Given the description of an element on the screen output the (x, y) to click on. 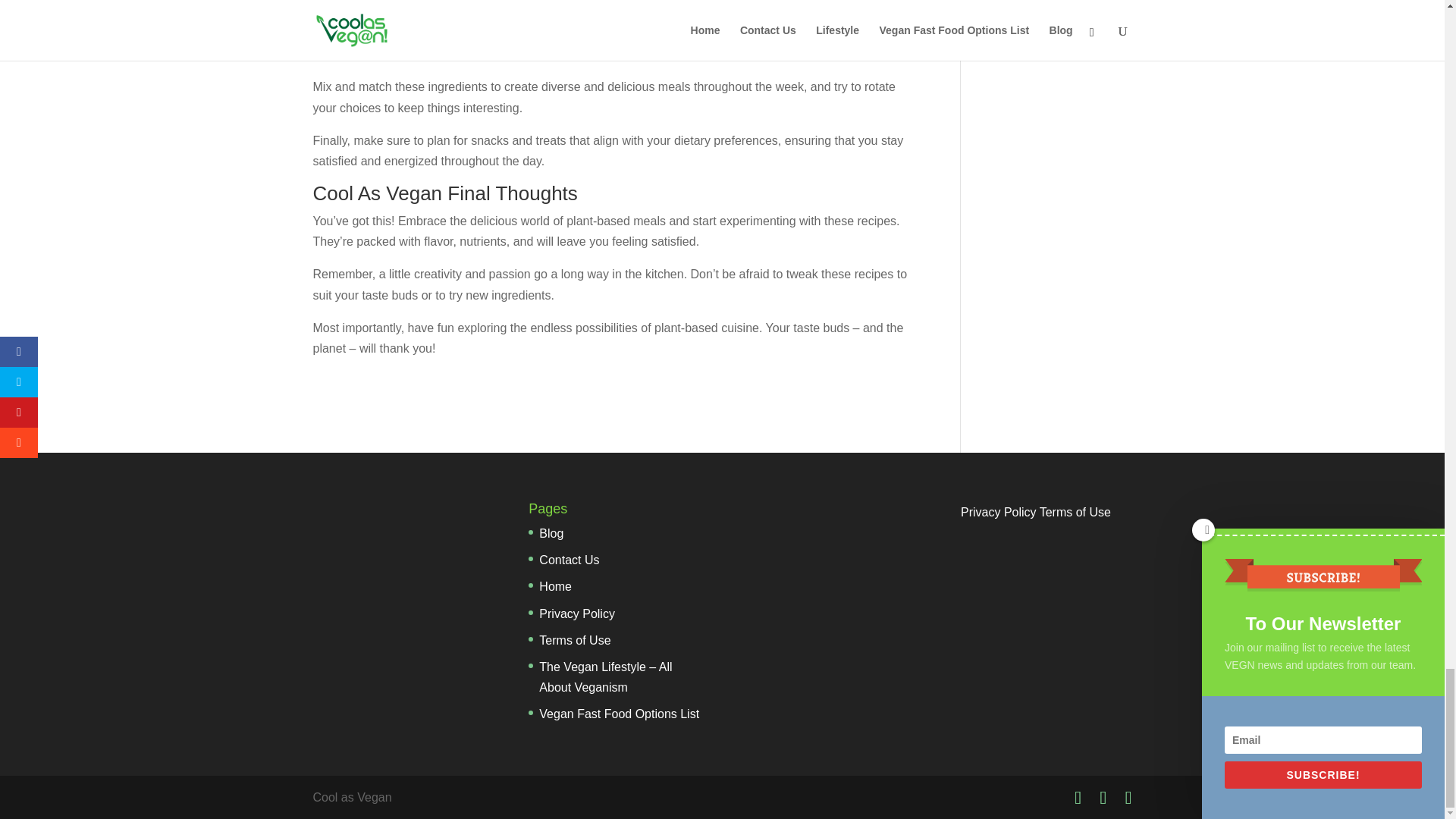
Privacy Policy (576, 613)
Blog (550, 533)
Terms of Use (574, 640)
Terms of Use (1074, 512)
Contact Us (568, 559)
Vegan Fast Food Options List (618, 713)
Privacy Policy (998, 512)
Home (555, 585)
